Given the description of an element on the screen output the (x, y) to click on. 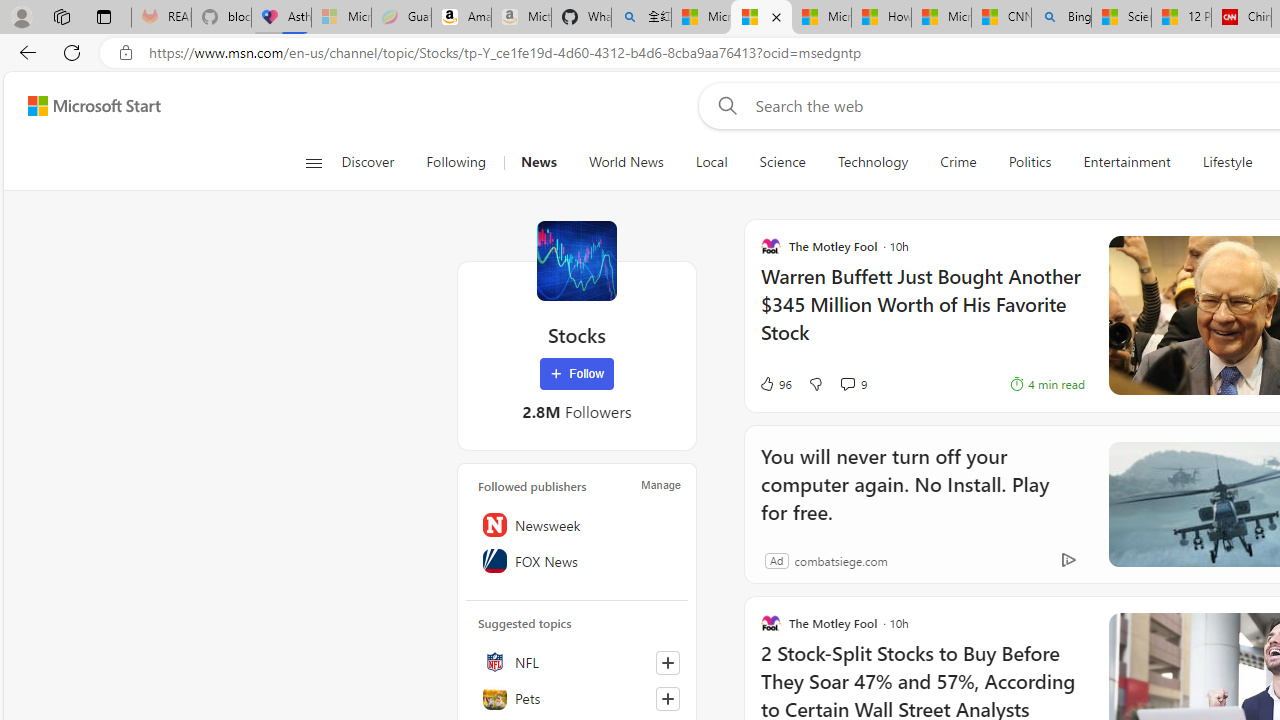
Asthma Inhalers: Names and Types (281, 17)
